Given the description of an element on the screen output the (x, y) to click on. 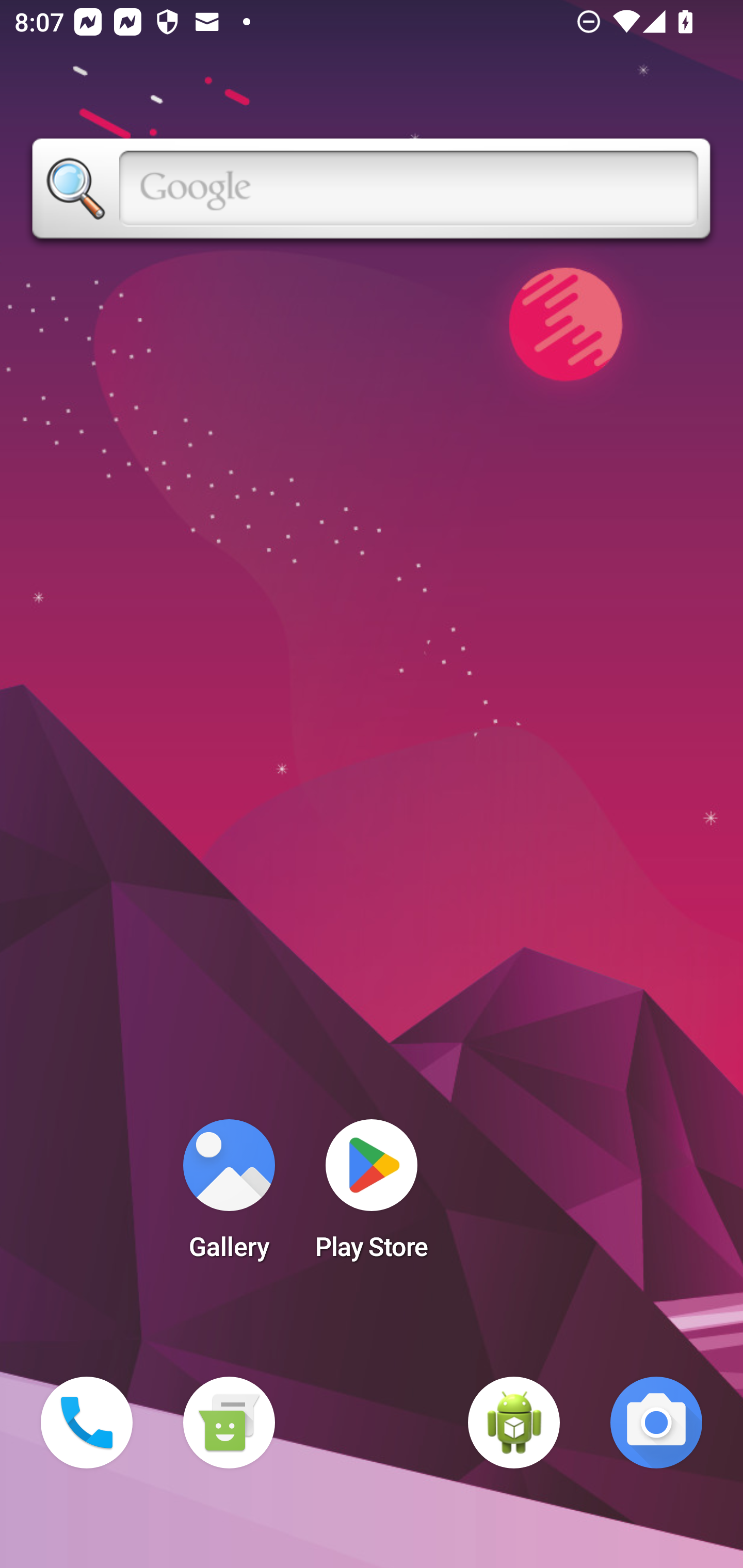
Gallery (228, 1195)
Play Store (371, 1195)
Phone (86, 1422)
Messaging (228, 1422)
WebView Browser Tester (513, 1422)
Camera (656, 1422)
